Given the description of an element on the screen output the (x, y) to click on. 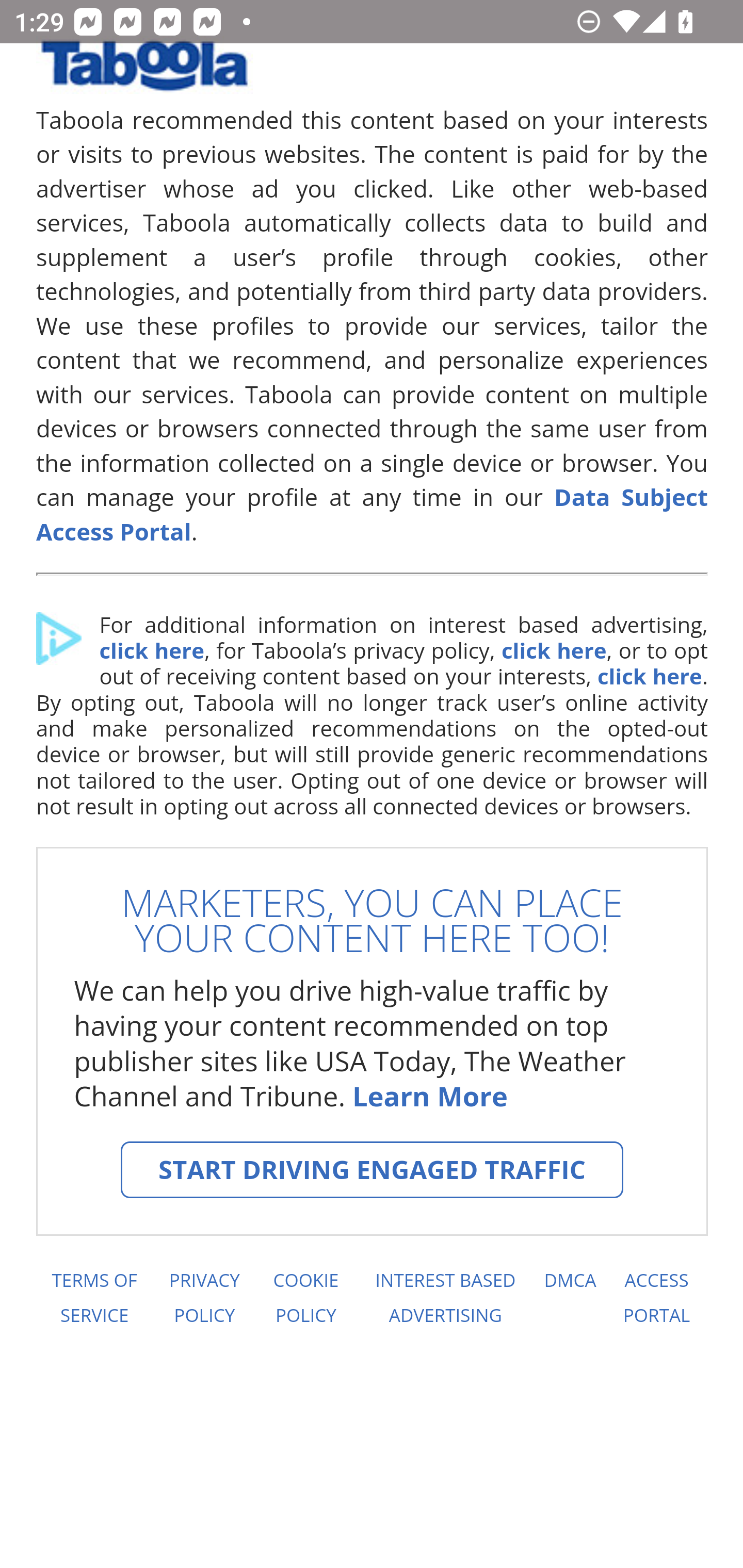
Taboola (144, 73)
Data Subject Access Portal (372, 513)
click here (151, 650)
click here (553, 650)
click here (648, 676)
Learn More (429, 1095)
START DRIVING ENGAGED TRAFFIC (371, 1169)
TERMS OF SERVICE (93, 1298)
PRIVACY POLICY (203, 1298)
COOKIE POLICY (305, 1298)
INTEREST BASED ADVERTISING (445, 1298)
DMCA (570, 1298)
ACCESS PORTAL (656, 1298)
